Given the description of an element on the screen output the (x, y) to click on. 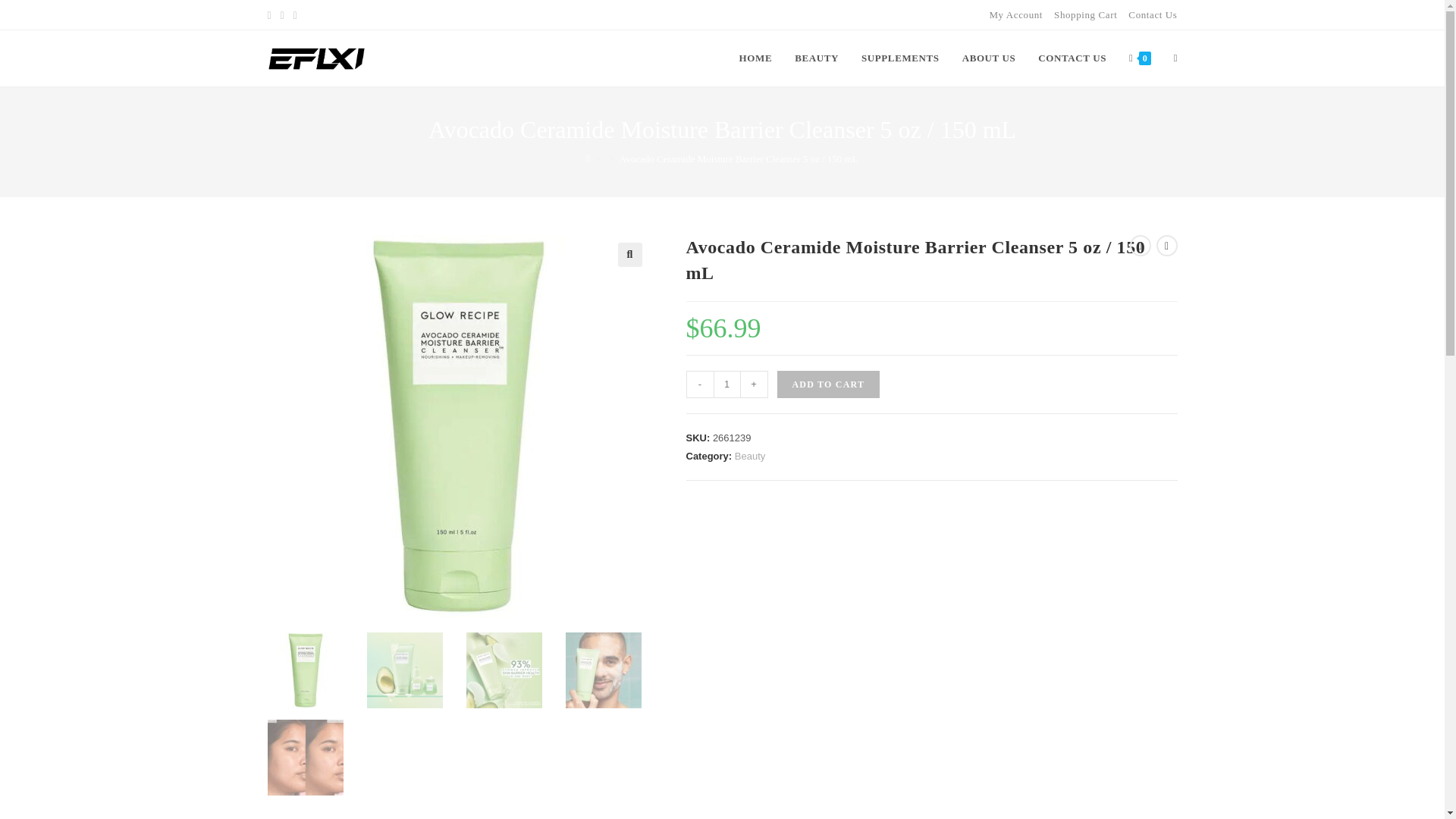
My Account (1015, 14)
PayPal (930, 501)
ABOUT US (988, 58)
1 (726, 384)
3367 (1104, 24)
Shopping Cart (1085, 14)
SUPPLEMENTS (900, 58)
BEAUTY (816, 58)
HOME (756, 58)
CONTACT US (1072, 58)
Contact Us (1152, 14)
